Given the description of an element on the screen output the (x, y) to click on. 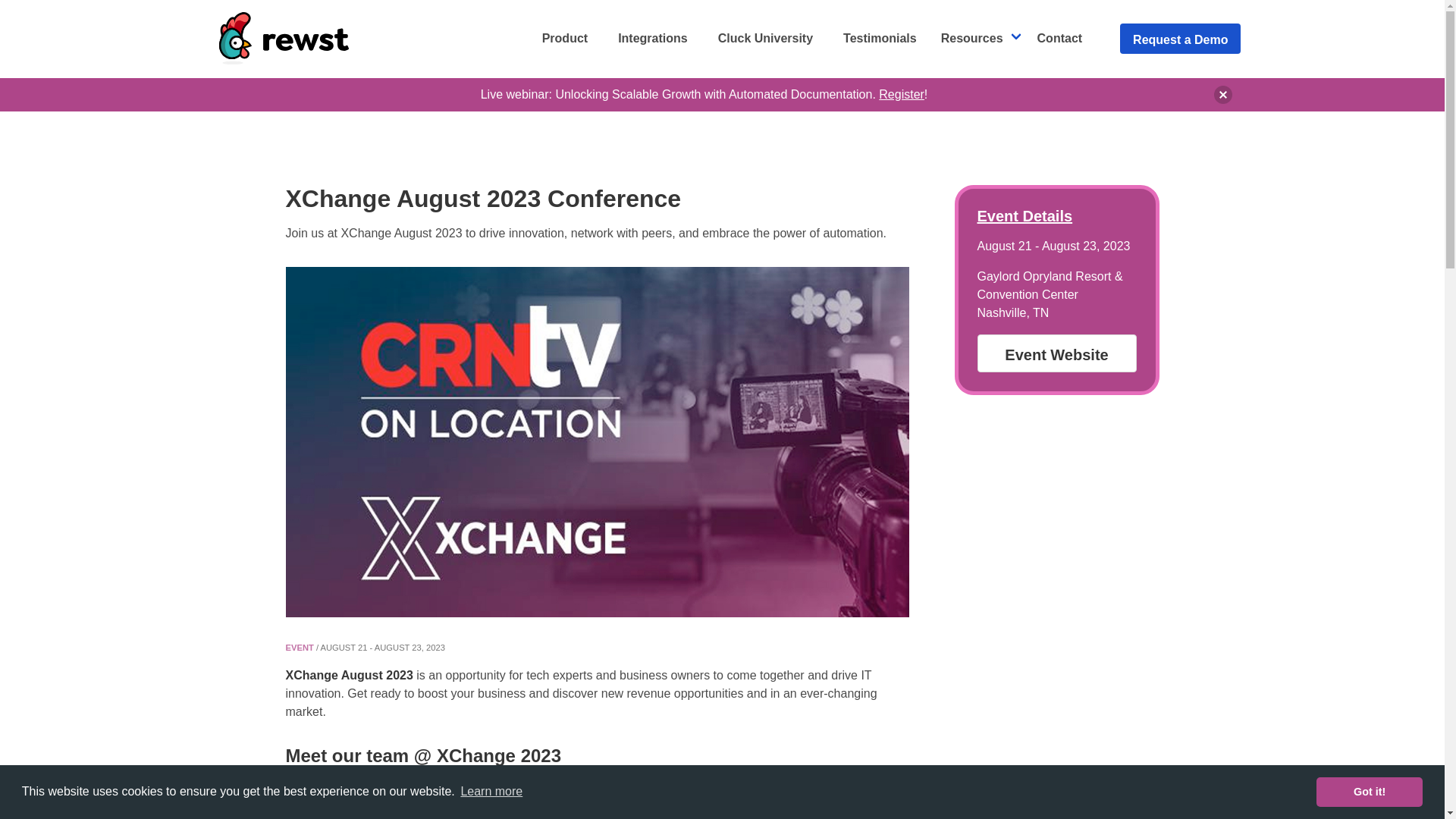
Testimonials (879, 39)
Request a Demo (1179, 37)
Register (901, 93)
Learn more (491, 791)
Integrations (652, 39)
Contact (1058, 39)
Event Website (1055, 352)
Cluck University (765, 39)
Product (564, 39)
Got it! (1369, 791)
